Given the description of an element on the screen output the (x, y) to click on. 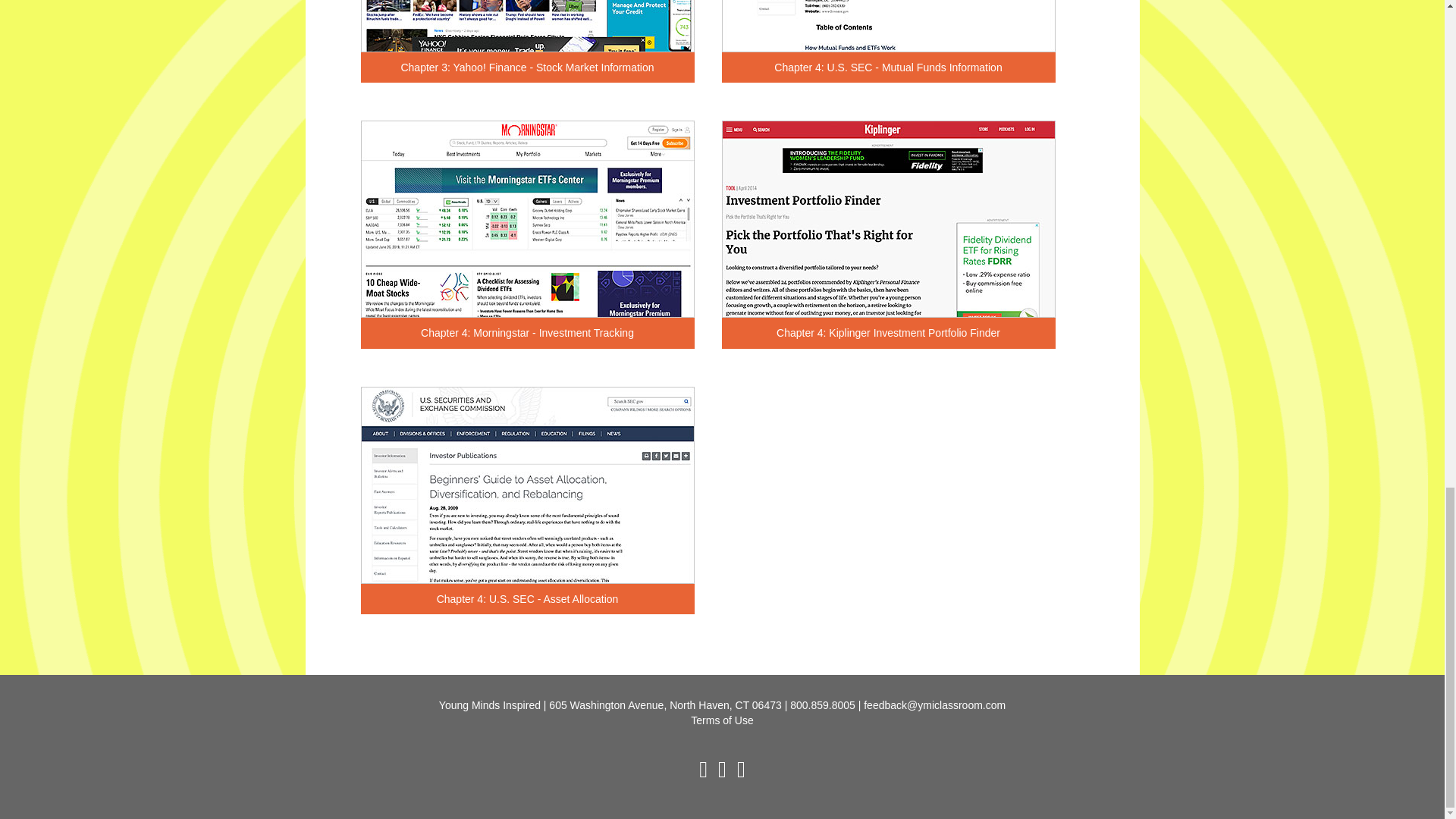
Chapter 4: U.S. SEC - Asset Allocation (527, 598)
Chapter 4: Morningstar - Investment Tracking (527, 332)
Chapter 4: Kiplinger Investment Portfolio Finder (888, 332)
Chapter 4: U.S. SEC - Mutual Funds Information (888, 67)
Terms of Use (721, 720)
Chapter 3: Yahoo! Finance - Stock Market Information (527, 67)
